Given the description of an element on the screen output the (x, y) to click on. 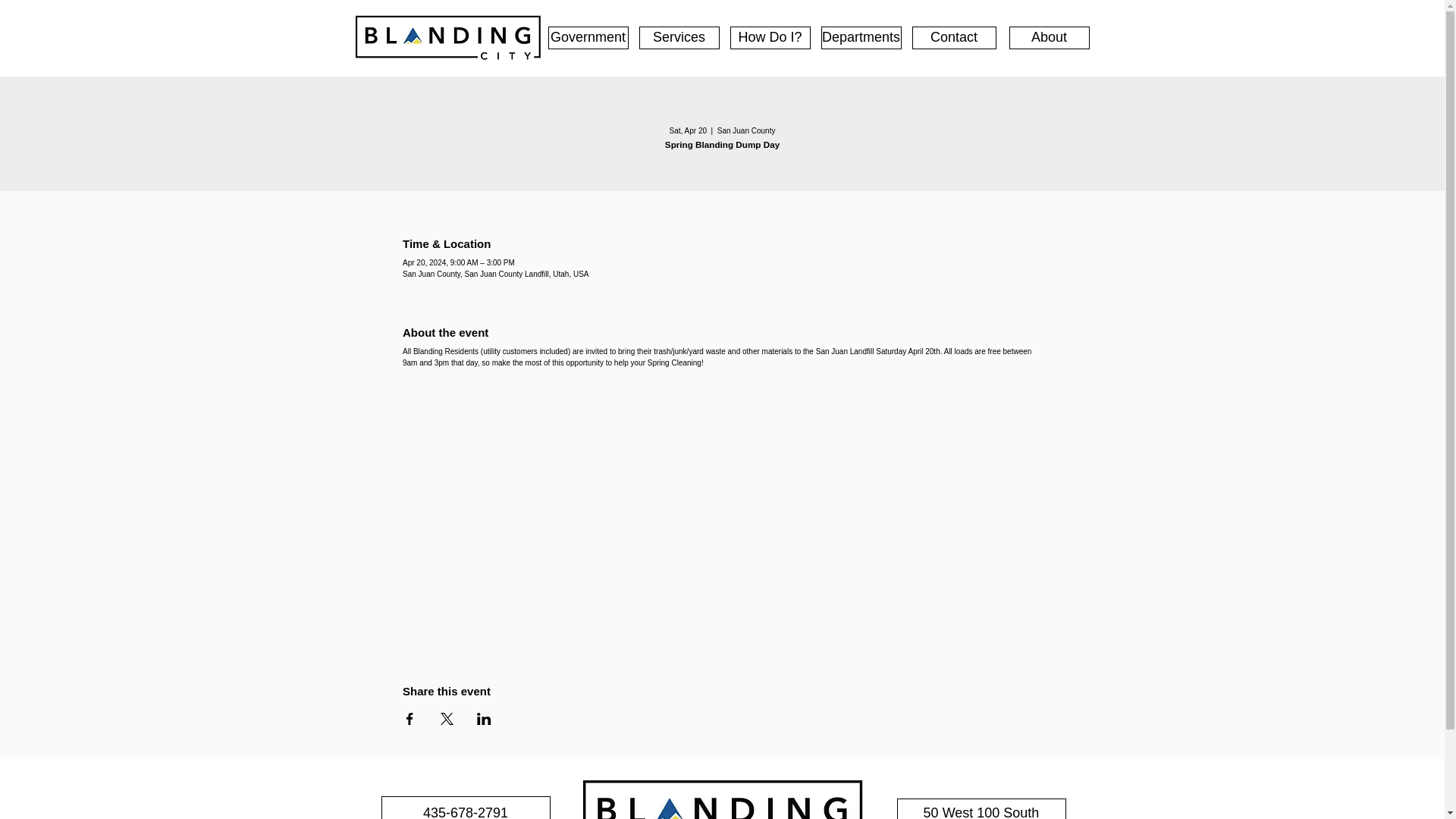
About (1049, 37)
Contact (953, 37)
Departments (861, 37)
435-678-2791 (465, 807)
Services (679, 37)
Government (587, 37)
How Do I? (769, 37)
50 West 100 South (980, 808)
